Given the description of an element on the screen output the (x, y) to click on. 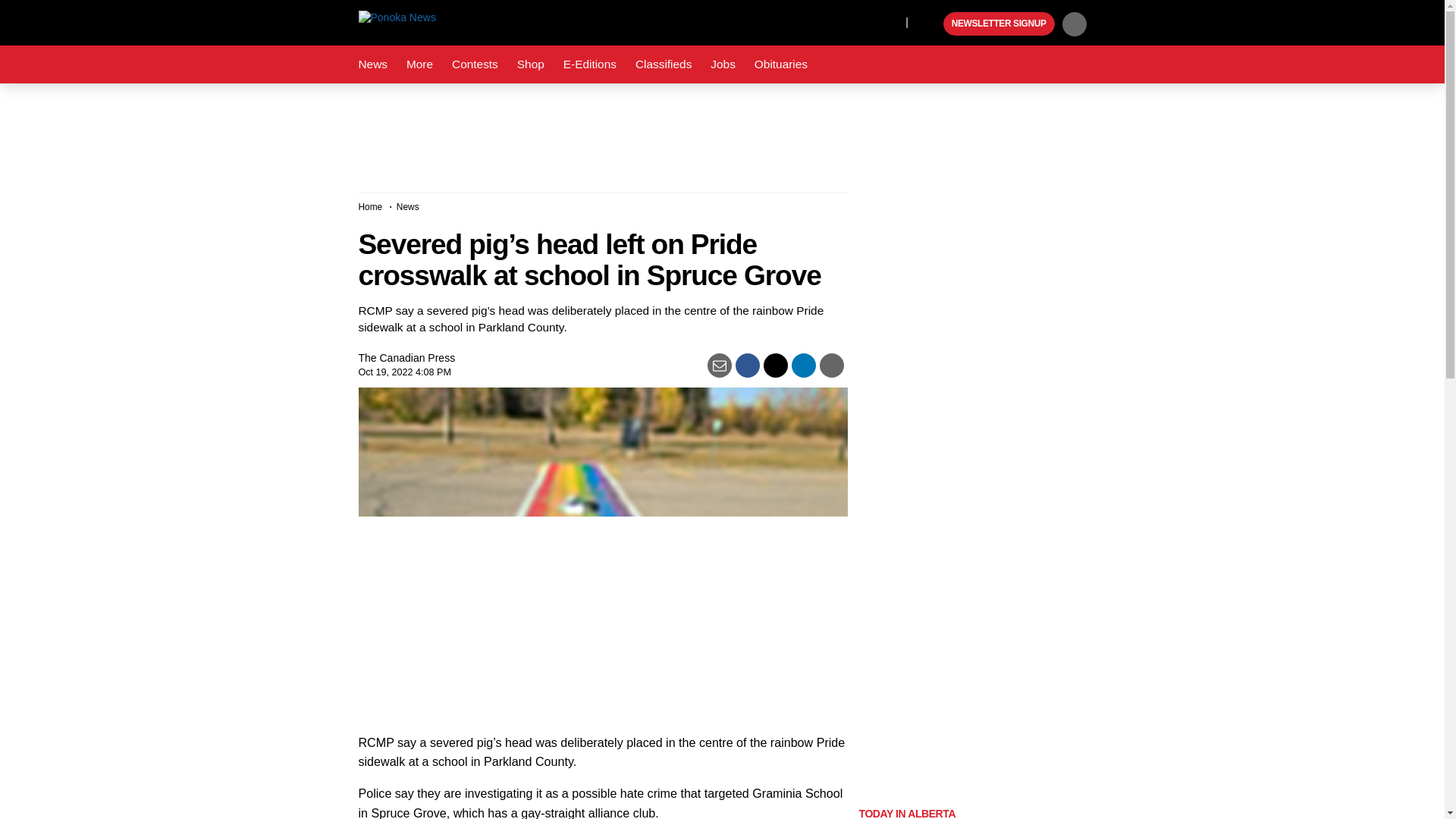
NEWSLETTER SIGNUP (998, 24)
Play (929, 24)
Black Press Media (929, 24)
X (889, 21)
News (372, 64)
